Given the description of an element on the screen output the (x, y) to click on. 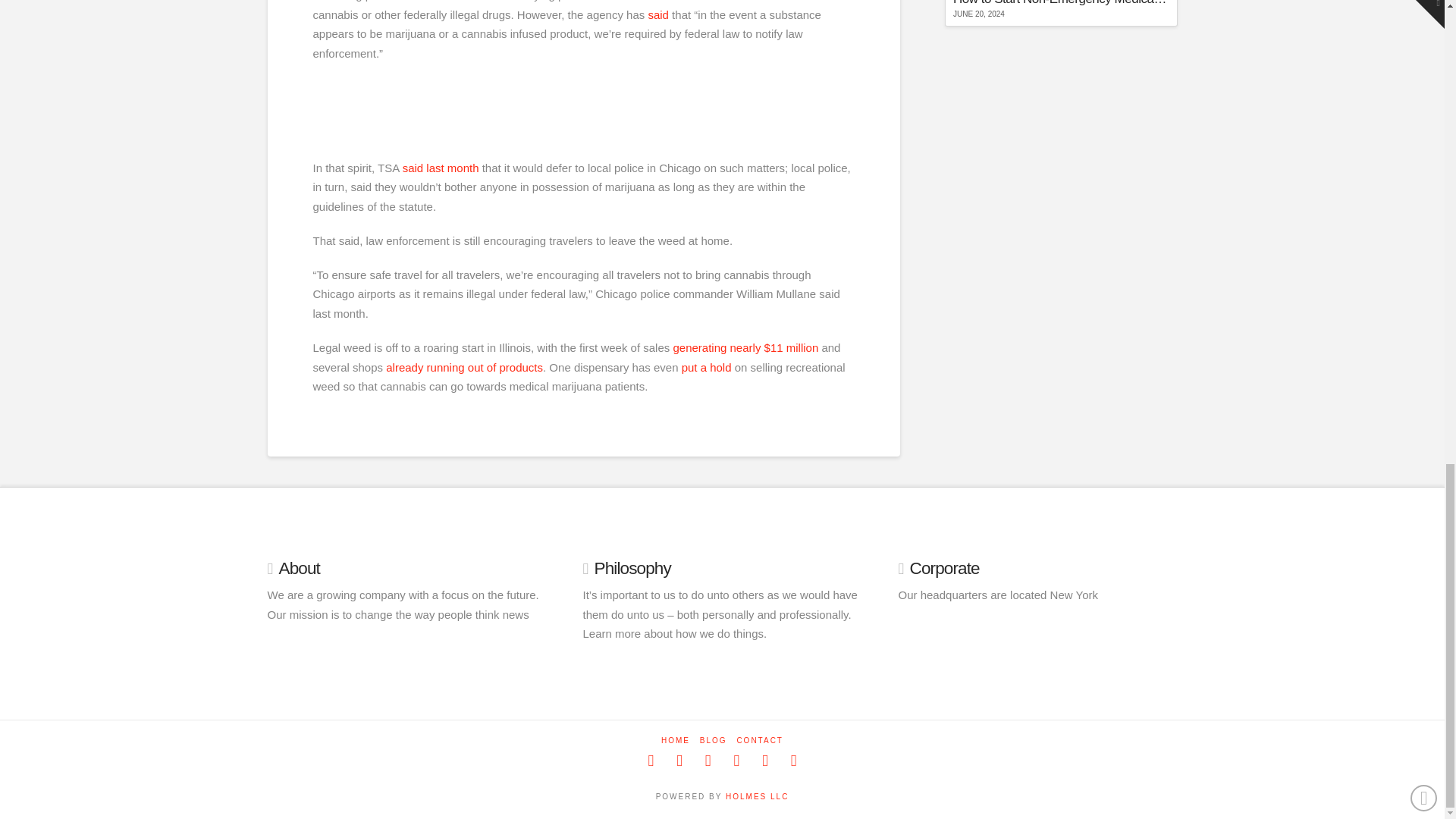
said last month  (442, 167)
said (657, 14)
already running out of products (464, 367)
